Given the description of an element on the screen output the (x, y) to click on. 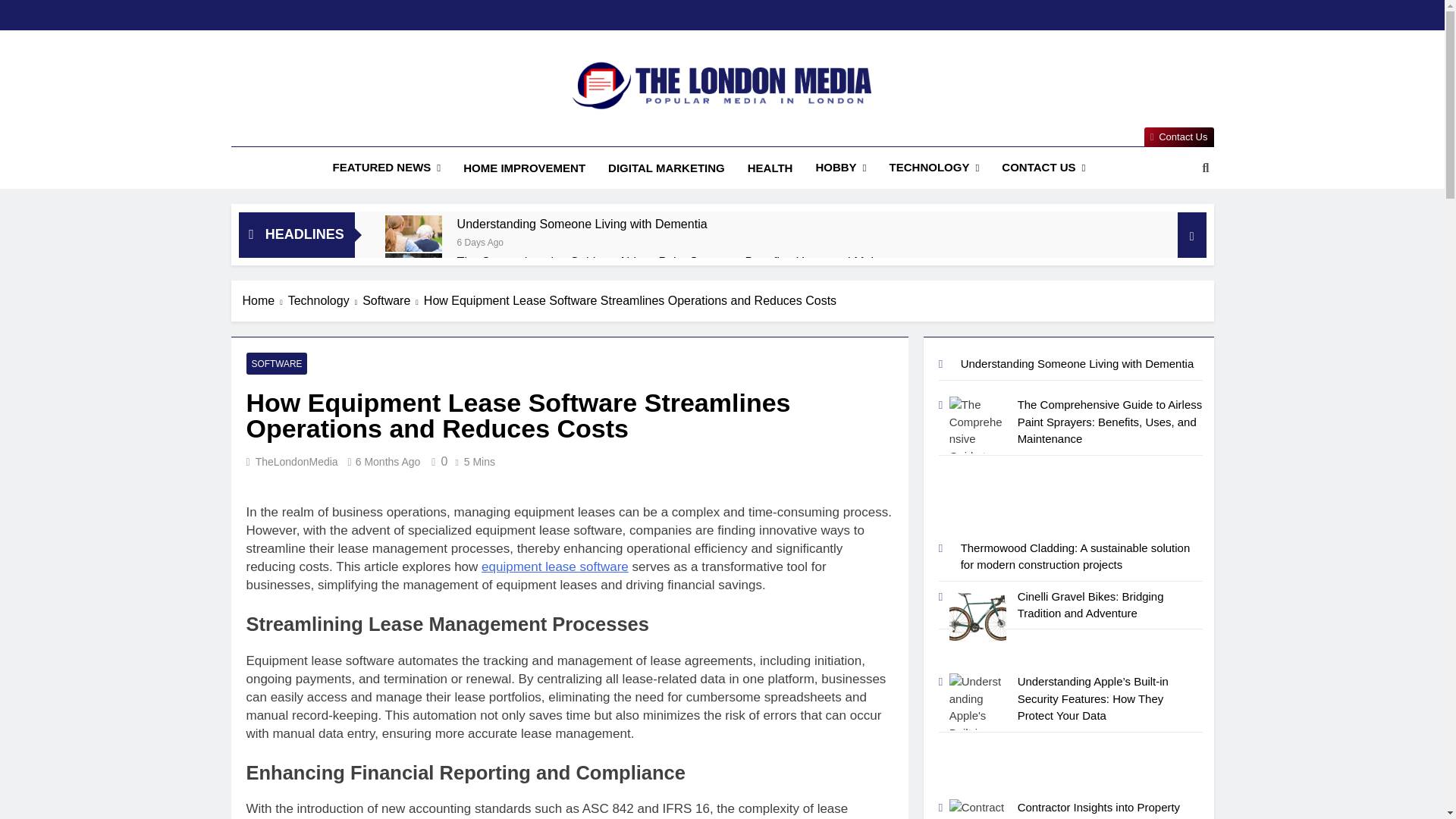
6 Days Ago (480, 241)
TECHNOLOGY (934, 168)
The London Media (620, 132)
Contact Us (1179, 137)
Understanding Someone Living with Dementia (413, 233)
HOME IMPROVEMENT (523, 168)
Understanding Someone Living with Dementia (582, 223)
HEALTH (770, 168)
